Given the description of an element on the screen output the (x, y) to click on. 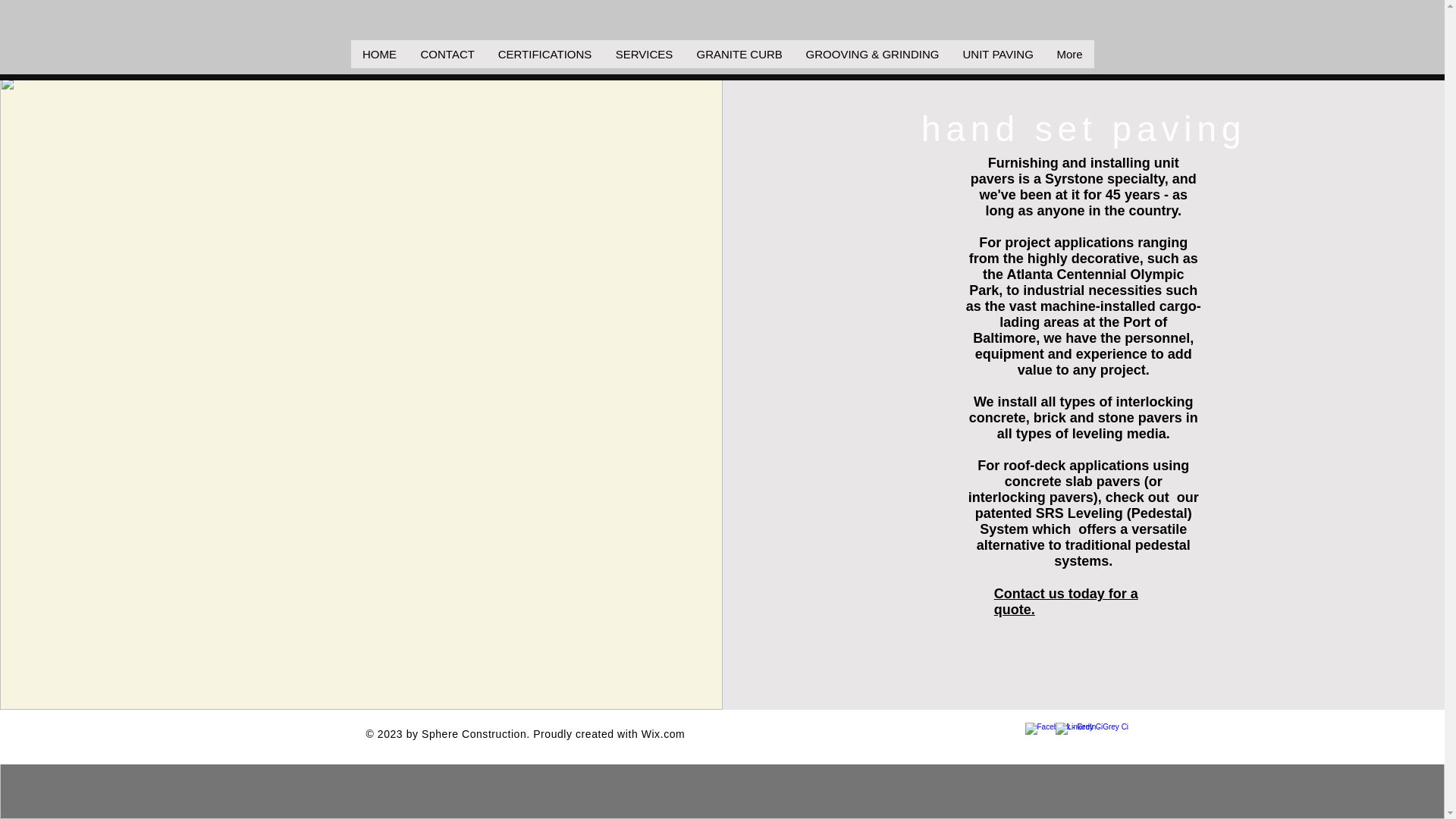
HOME (378, 53)
CONTACT (445, 53)
UNIT PAVING (997, 53)
Wix.com (663, 734)
CERTIFICATIONS (543, 53)
SERVICES (644, 53)
GRANITE CURB (738, 53)
Contact us today for a quote. (1066, 601)
